Given the description of an element on the screen output the (x, y) to click on. 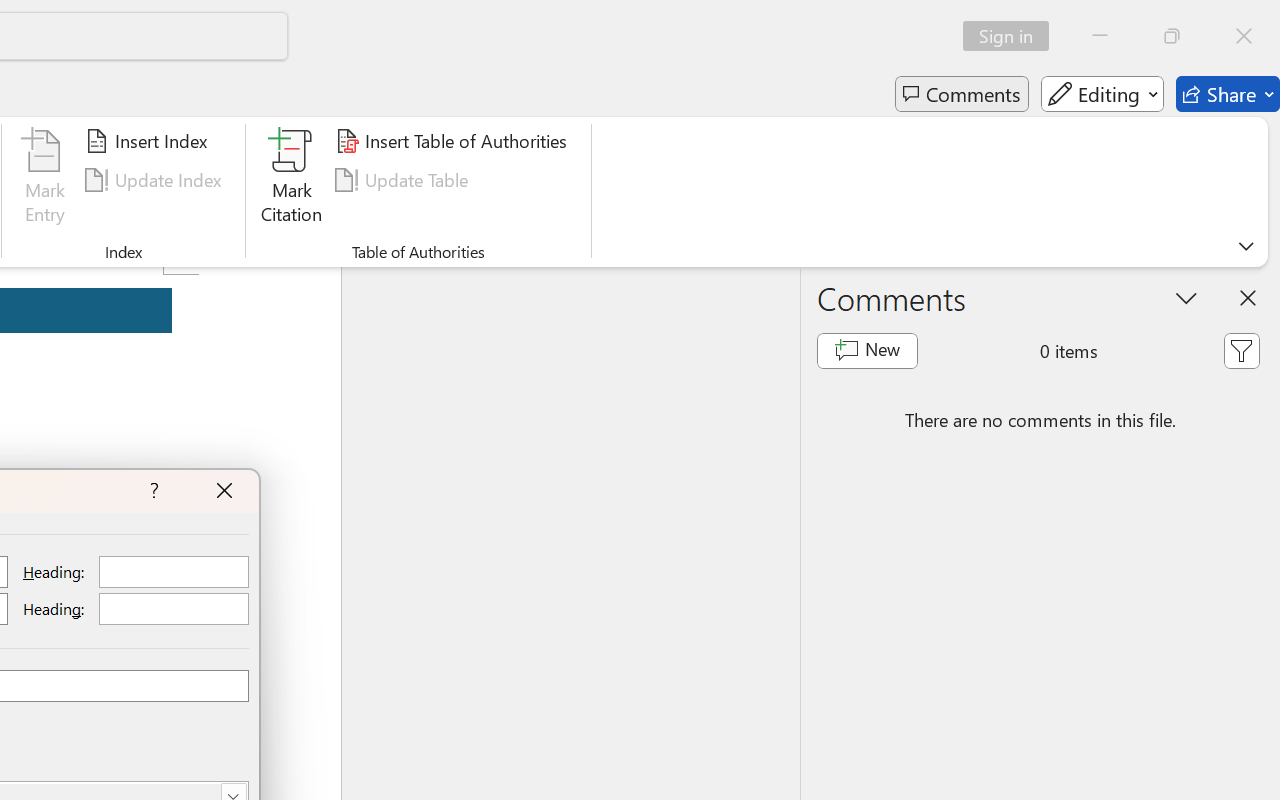
Update Index (156, 179)
Sign in (1012, 35)
Editing (1101, 94)
New comment (866, 350)
RichEdit Control (174, 609)
Mark Citation... (292, 179)
